Given the description of an element on the screen output the (x, y) to click on. 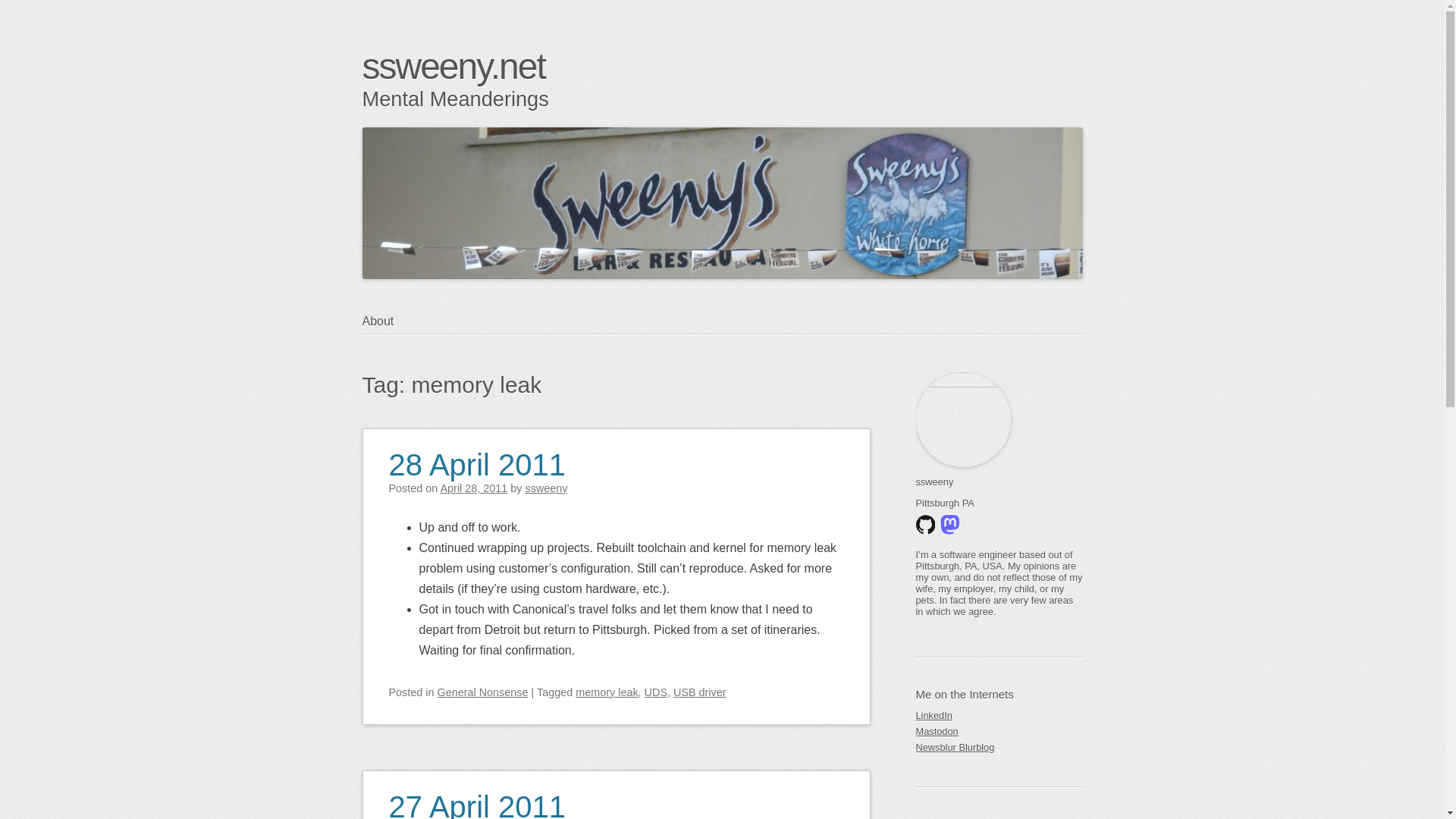
Mastodon (999, 730)
Newsblur Blurblog (999, 747)
memory leak (606, 692)
Permalink to 28 April 2011 (477, 455)
LinkedIn (999, 715)
USB driver (699, 692)
UDS (655, 692)
About (387, 321)
ssweeny.net (453, 65)
